Given the description of an element on the screen output the (x, y) to click on. 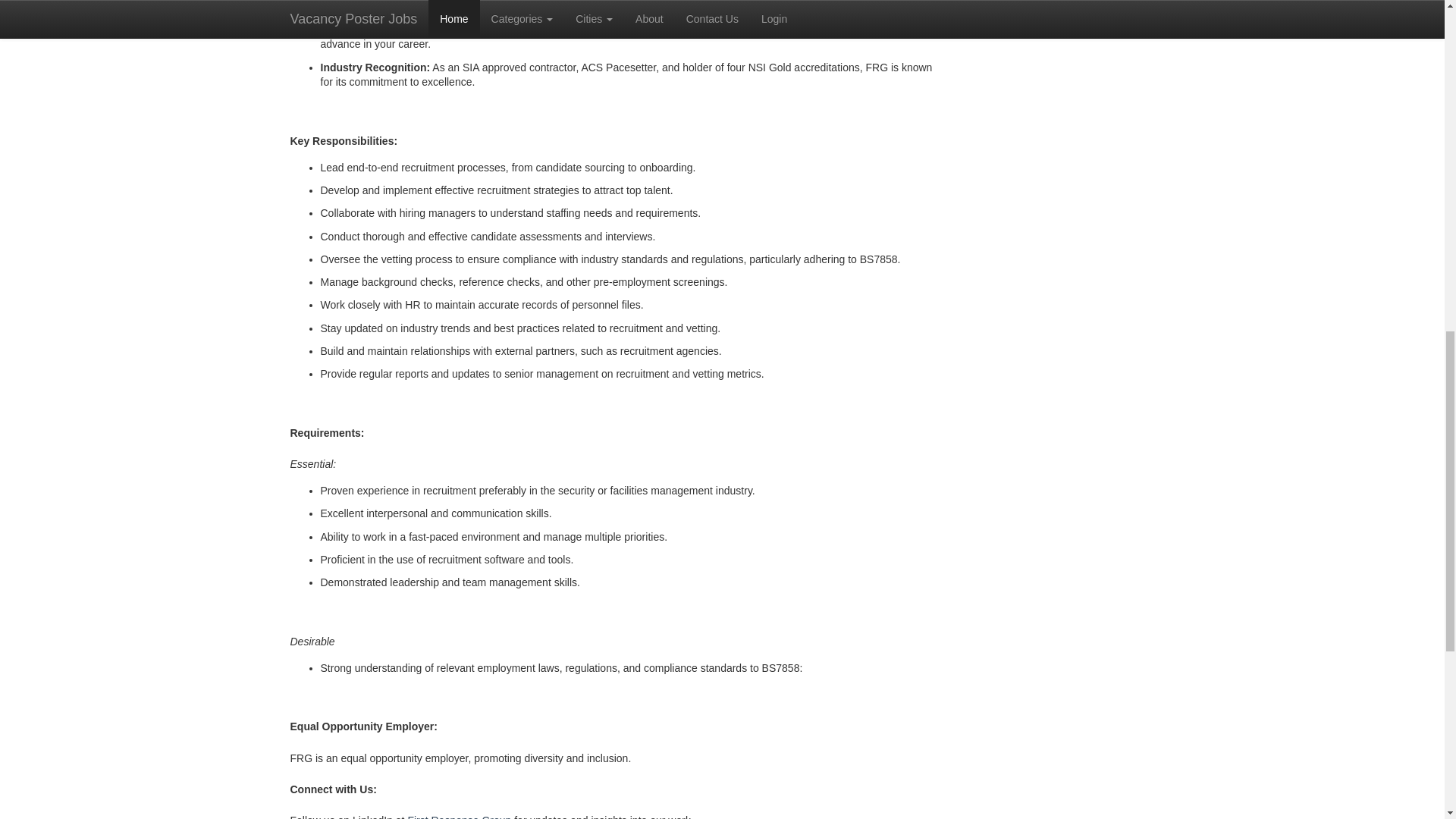
First Response Group (459, 816)
